Given the description of an element on the screen output the (x, y) to click on. 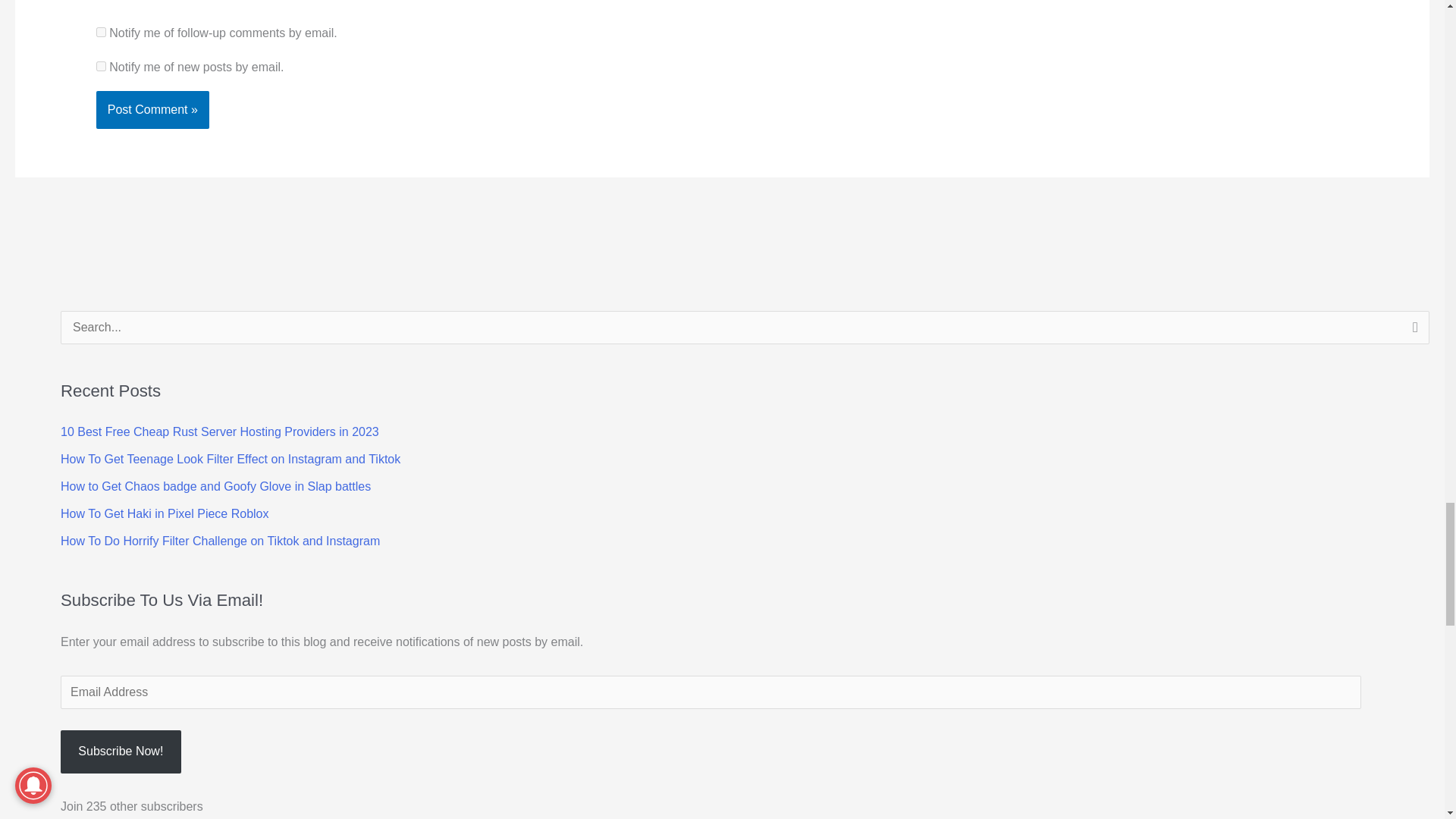
subscribe (101, 66)
Subscribe Now! (120, 751)
How To Do Horrify Filter Challenge on Tiktok and Instagram (220, 540)
How To Get Haki in Pixel Piece Roblox (165, 513)
subscribe (101, 31)
How to Get Chaos badge and Goofy Glove in Slap battles (216, 486)
10 Best Free Cheap Rust Server Hosting Providers in 2023 (219, 431)
